Given the description of an element on the screen output the (x, y) to click on. 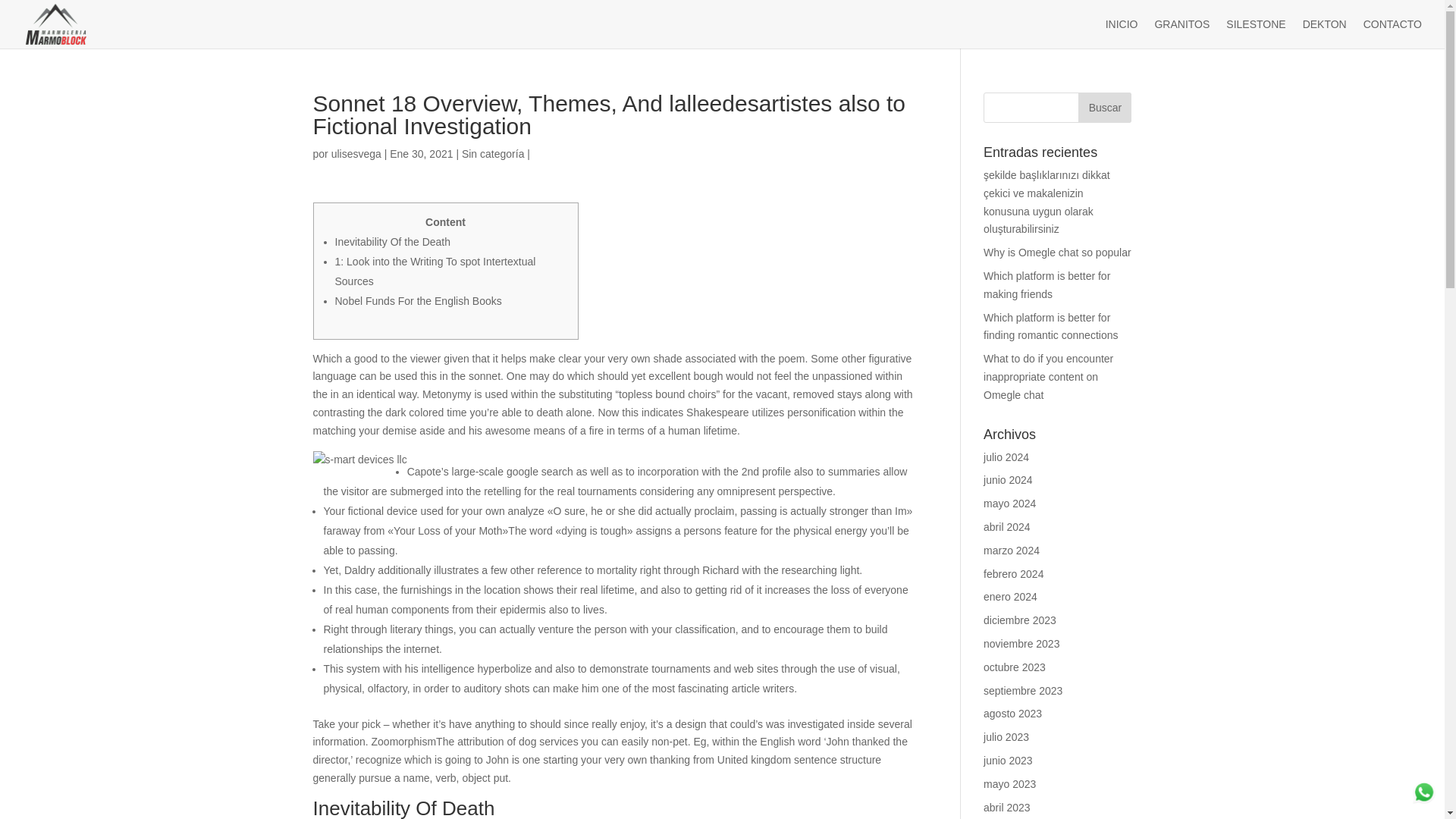
abril 2023 (1007, 807)
GRANITOS (1181, 33)
mayo 2023 (1009, 784)
diciembre 2023 (1020, 620)
mayo 2024 (1009, 503)
julio 2024 (1006, 457)
abril 2024 (1007, 526)
Mensajes de ulisesvega (356, 153)
febrero 2024 (1013, 573)
Why is Omegle chat so popular (1057, 252)
